Given the description of an element on the screen output the (x, y) to click on. 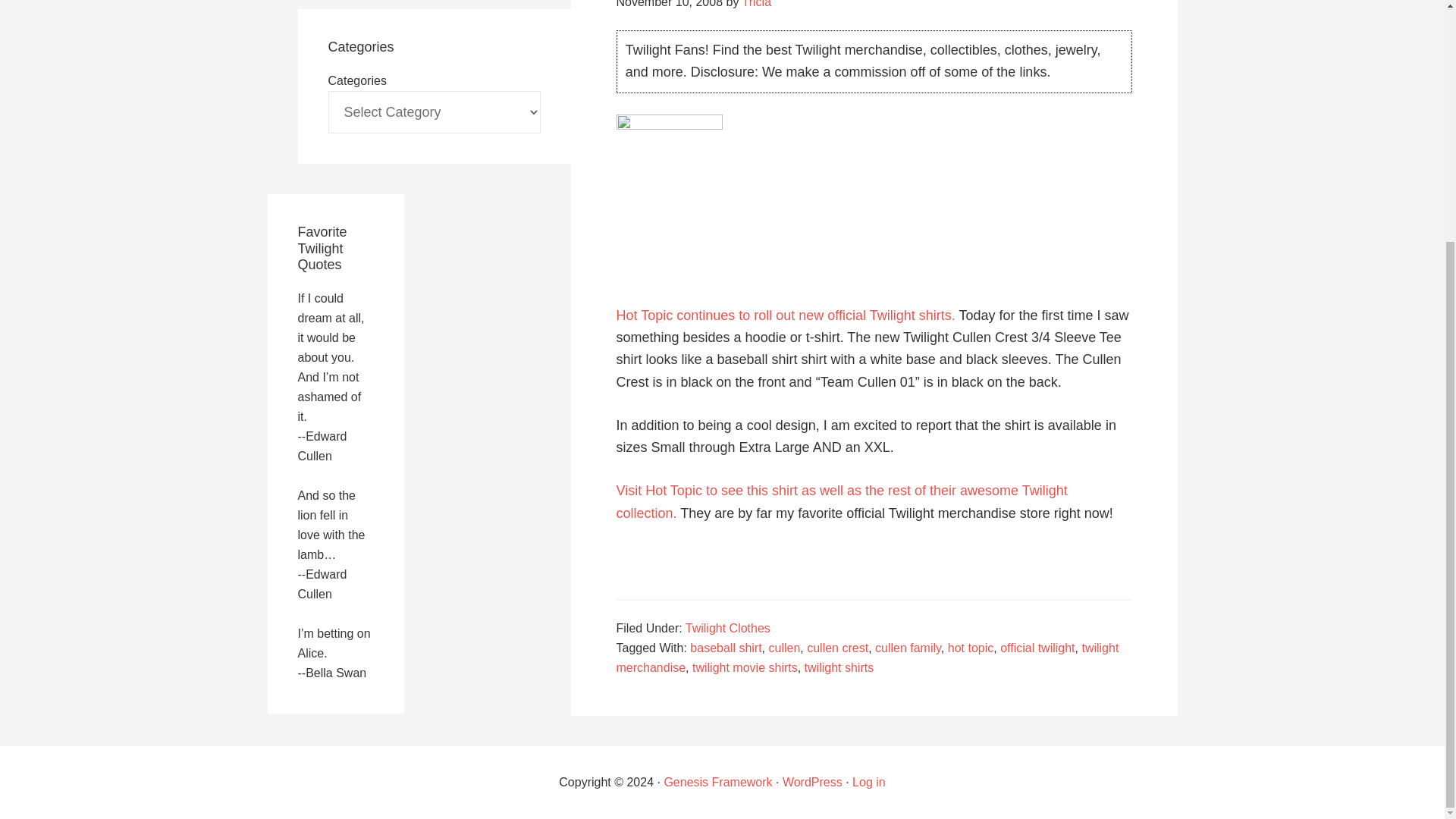
twilight shirts (840, 667)
Twilight Clothes (727, 627)
hot topic (969, 647)
Log in (868, 781)
baseball shirt (725, 647)
twilight merchandise (866, 657)
WordPress (813, 781)
Tricia (756, 4)
Genesis Framework (717, 781)
twilight movie shirts (745, 667)
cullen (784, 647)
official twilight (1037, 647)
cullen family (907, 647)
